Given the description of an element on the screen output the (x, y) to click on. 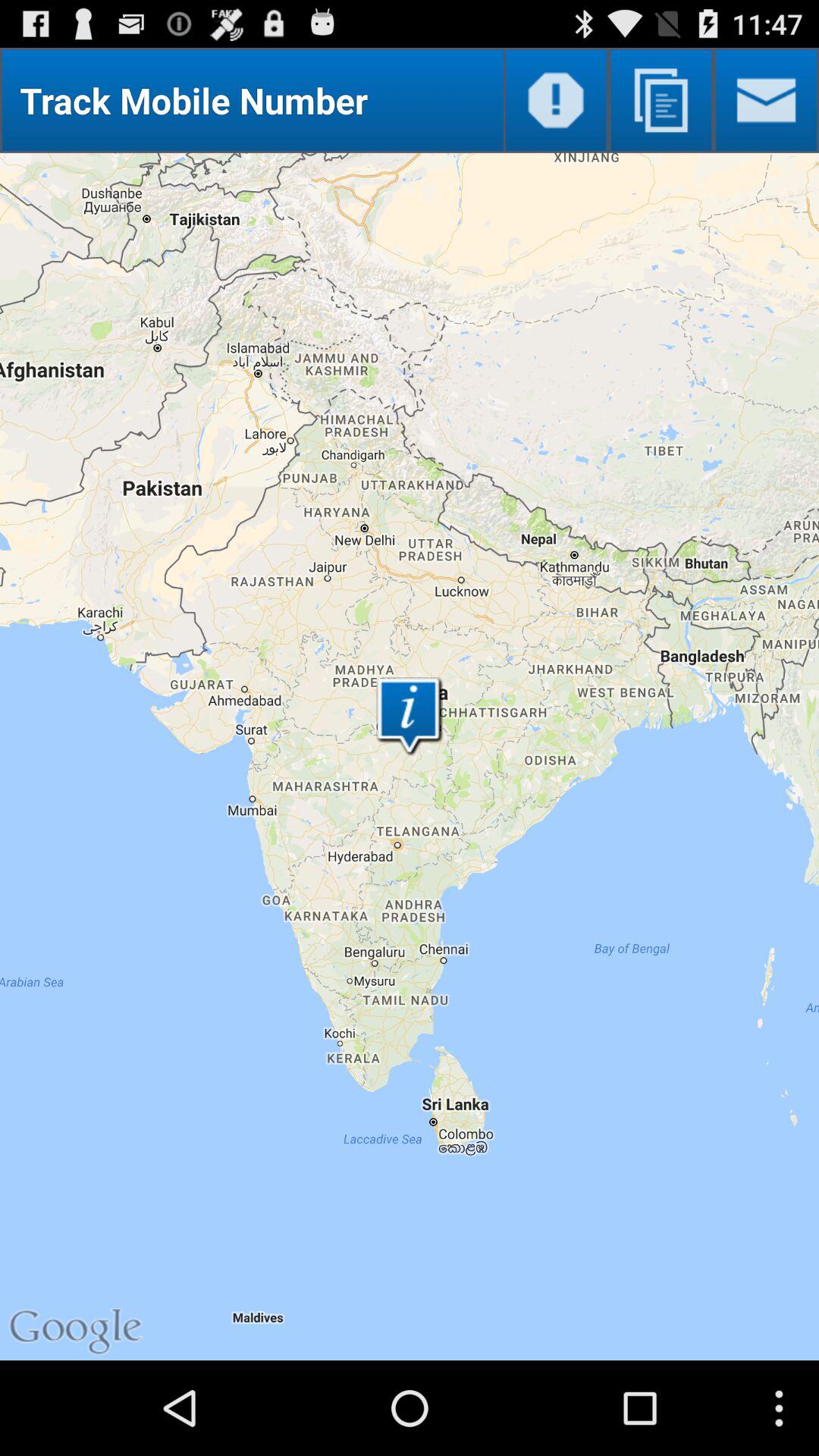
new message (766, 99)
